Given the description of an element on the screen output the (x, y) to click on. 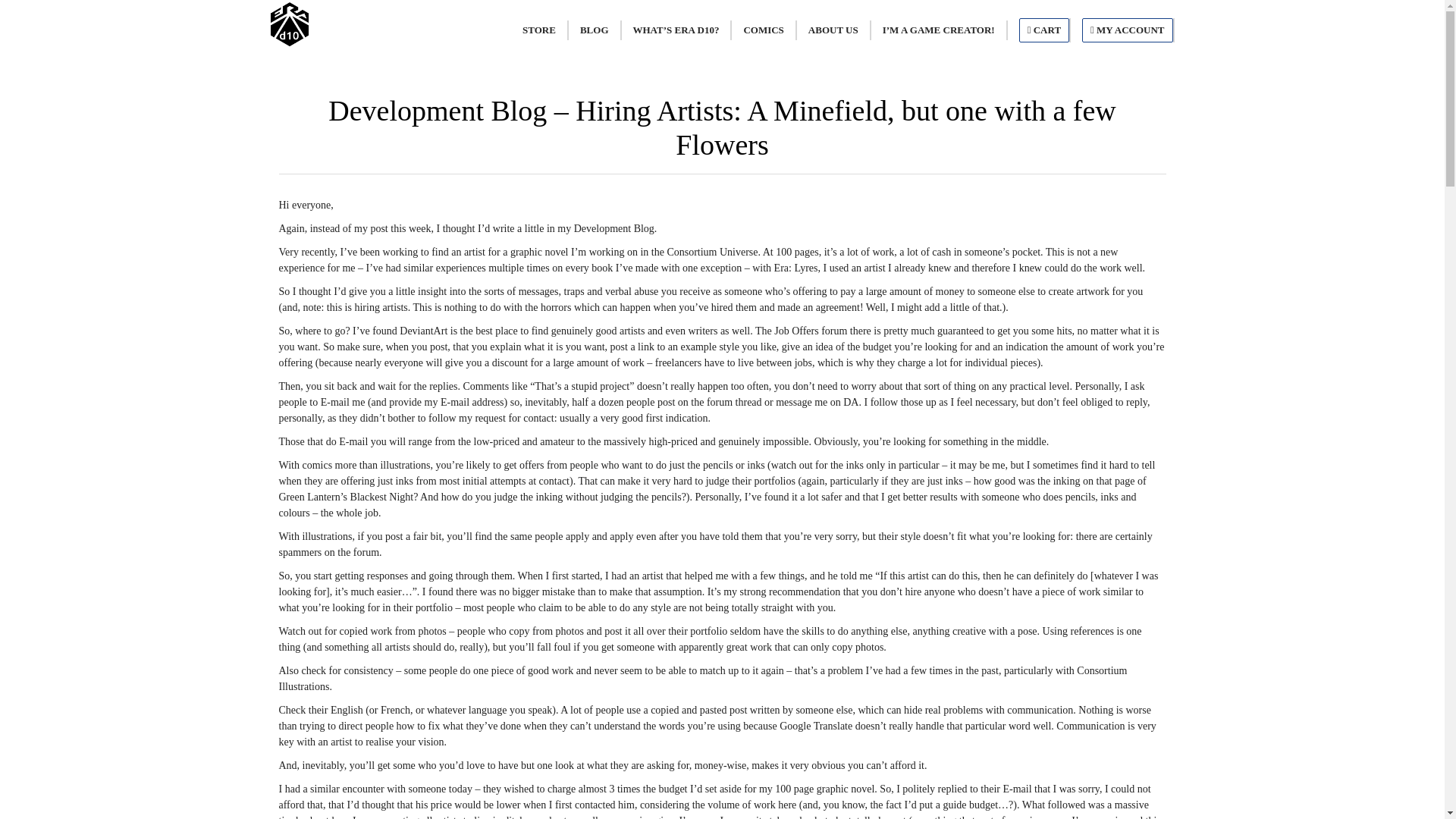
MY ACCOUNT (1126, 30)
COMICS (763, 31)
ABOUT US (832, 31)
BLOG (594, 31)
STORE (539, 31)
CART (1043, 30)
